Given the description of an element on the screen output the (x, y) to click on. 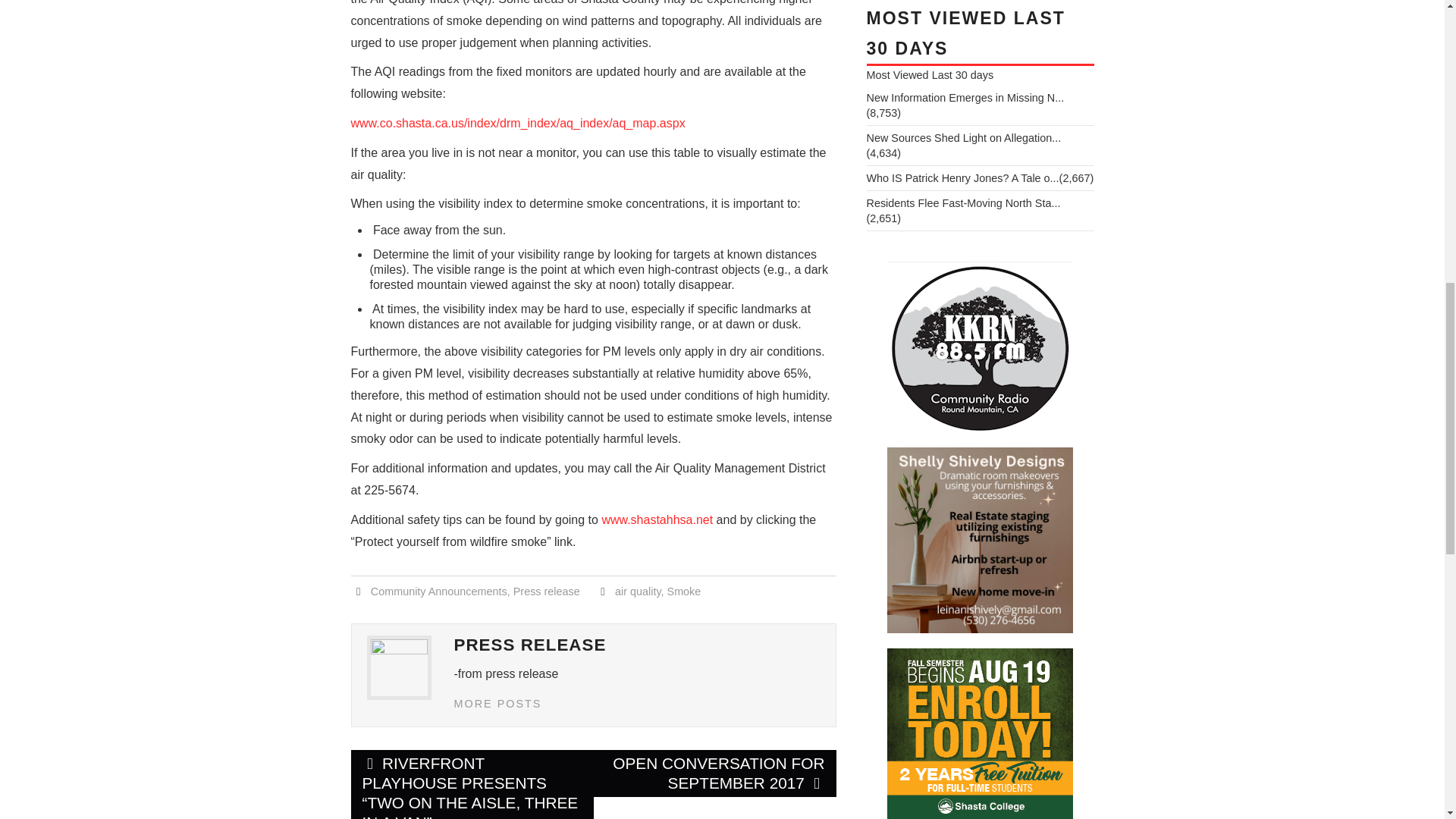
air quality (637, 591)
Press release (546, 591)
Smoke (683, 591)
www.shastahhsa.net (658, 519)
MORE POSTS (496, 703)
Community Announcements (438, 591)
OPEN CONVERSATION FOR SEPTEMBER 2017 (713, 773)
